Given the description of an element on the screen output the (x, y) to click on. 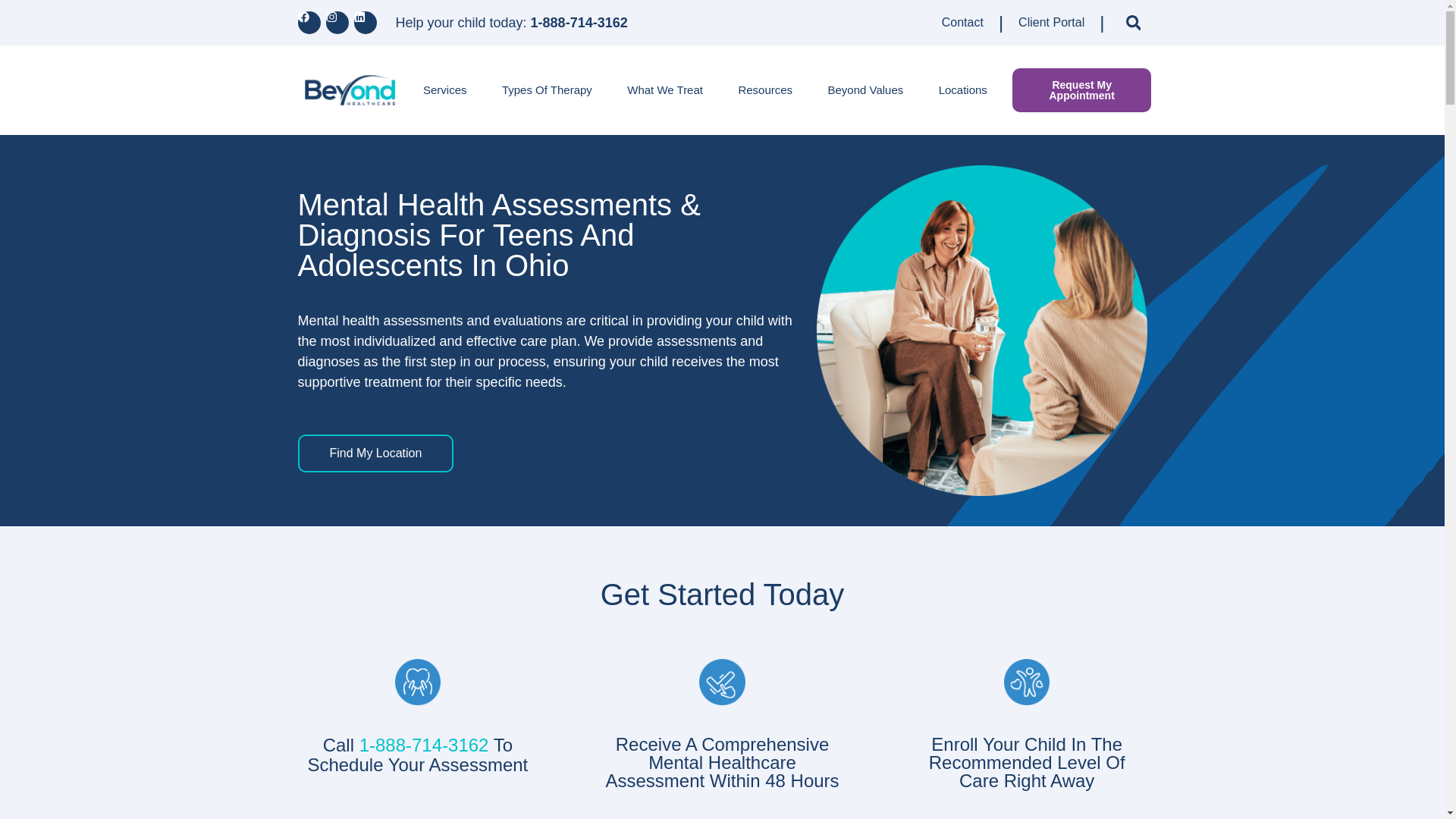
Types Of Therapy (547, 89)
Contact (963, 21)
1-888-714-3162 (579, 22)
Client Portal (1050, 21)
Services (445, 89)
Resources (764, 89)
What We Treat (665, 89)
Beyond Values (864, 89)
